Given the description of an element on the screen output the (x, y) to click on. 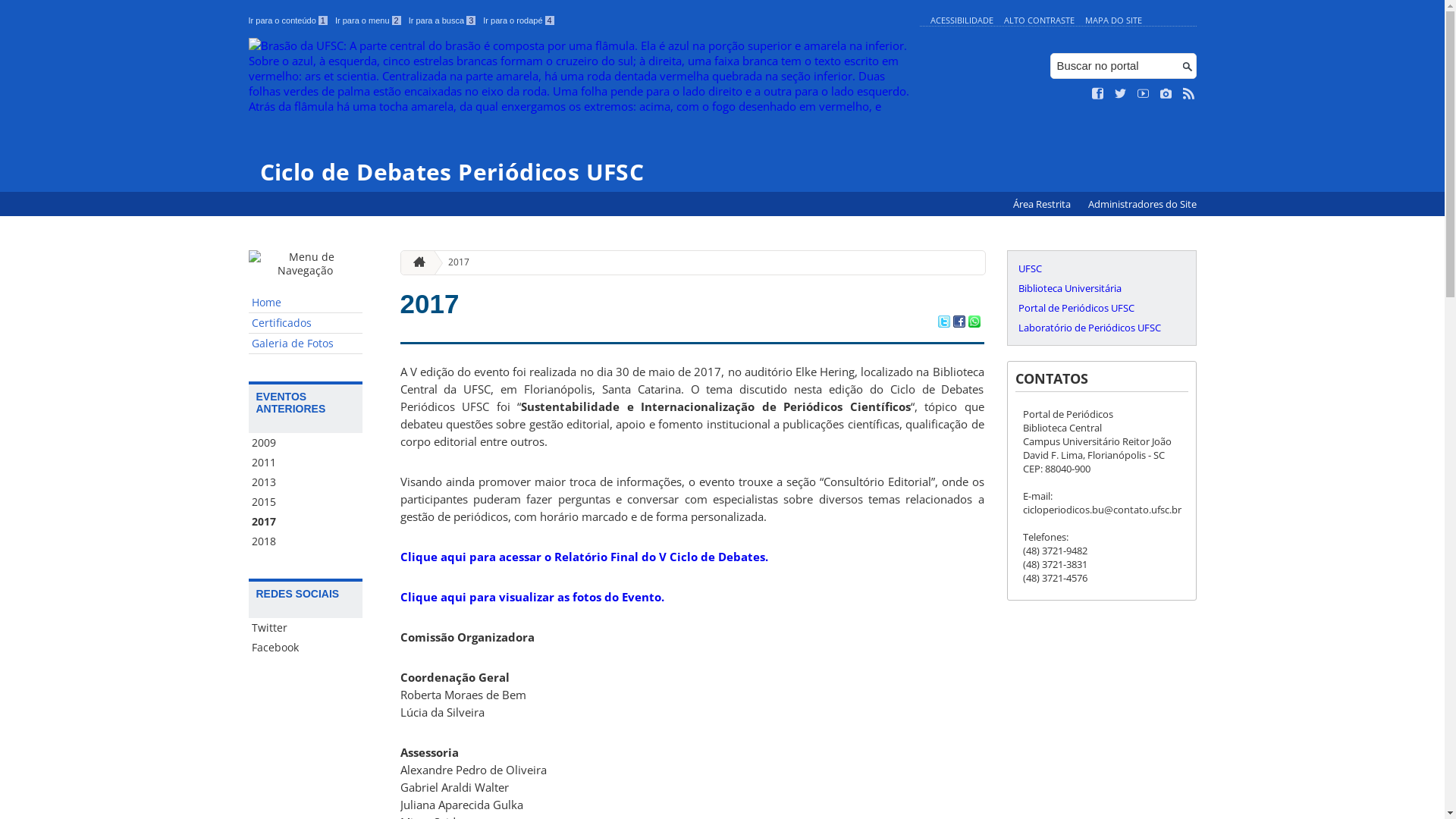
2011 Element type: text (305, 462)
Certificados Element type: text (305, 323)
2018 Element type: text (305, 541)
UFSC Element type: text (1100, 268)
2017 Element type: text (429, 303)
Galeria de Fotos Element type: text (305, 343)
ALTO CONTRASTE Element type: text (1039, 19)
Curta no Facebook Element type: hover (1098, 93)
Facebook Element type: text (305, 647)
Twitter Element type: text (305, 627)
Administradores do Site Element type: text (1141, 203)
Compartilhar no WhatsApp Element type: hover (973, 322)
ACESSIBILIDADE Element type: text (960, 19)
MAPA DO SITE Element type: text (1112, 19)
Ir para a busca 3 Element type: text (442, 20)
2017 Element type: text (305, 521)
2013 Element type: text (305, 482)
Clique aqui para visualizar as fotos do Evento. Element type: text (532, 596)
2015 Element type: text (305, 501)
Siga no Twitter Element type: hover (1120, 93)
Veja no Instagram Element type: hover (1166, 93)
Compartilhar no Facebook Element type: hover (958, 322)
Ir para o menu 2 Element type: text (368, 20)
Home Element type: text (305, 302)
2009 Element type: text (305, 442)
Compartilhar no Twitter Element type: hover (943, 322)
2017 Element type: text (452, 262)
